Given the description of an element on the screen output the (x, y) to click on. 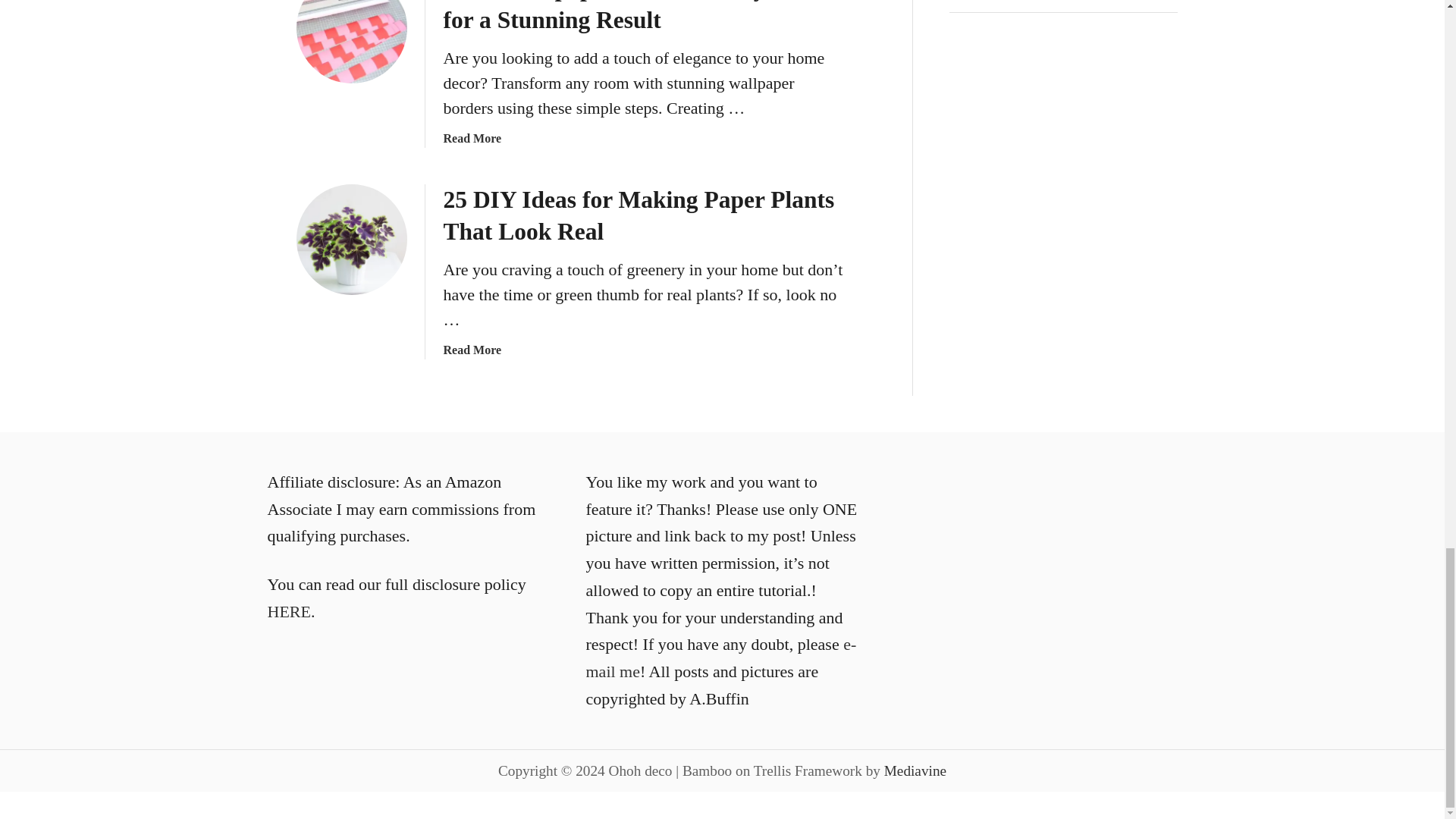
Make Wallpaper Borders: Easy DIY for a Stunning Result (350, 41)
25 DIY Ideas for Making Paper Plants That Look Real (350, 239)
